Given the description of an element on the screen output the (x, y) to click on. 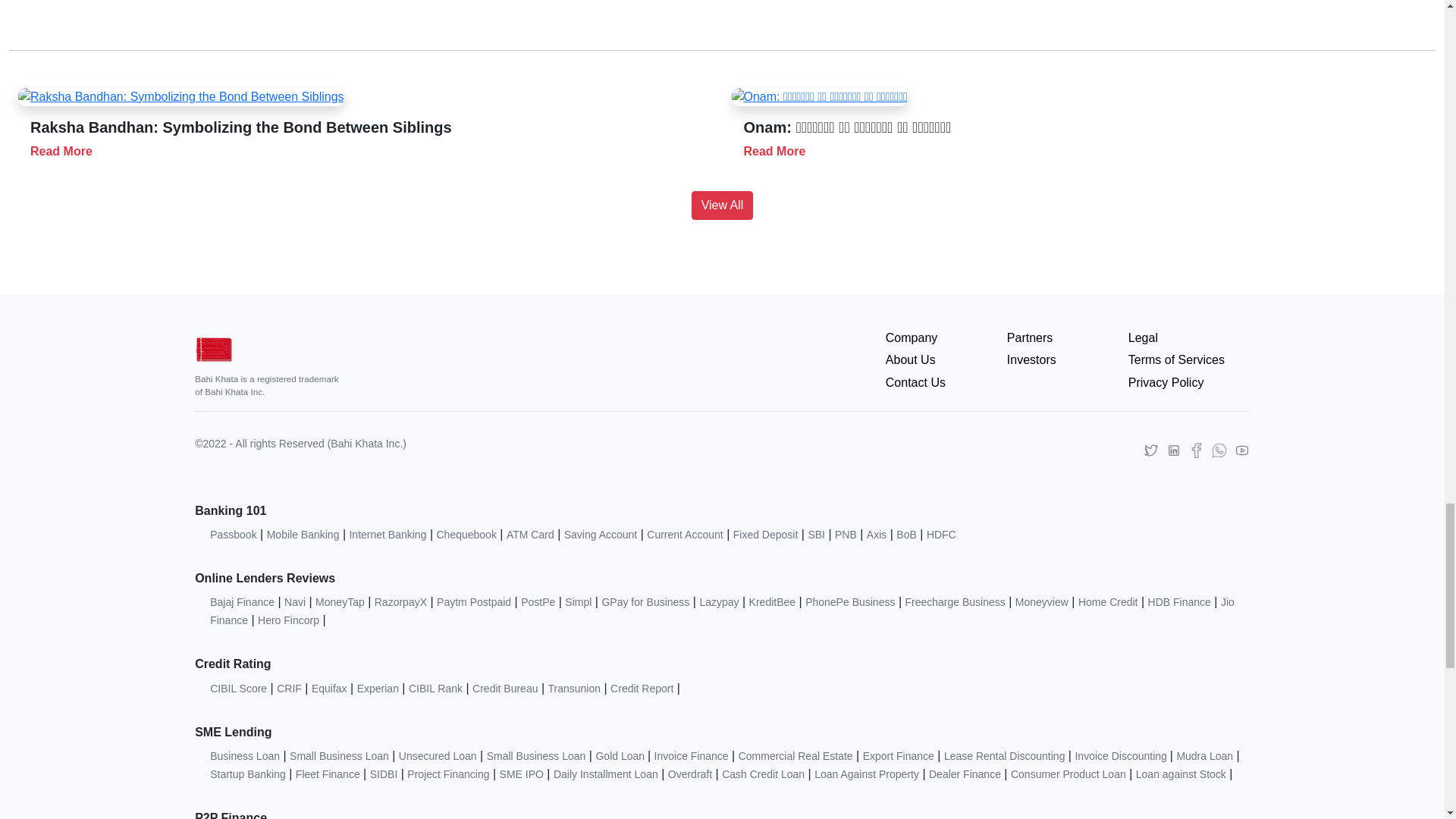
Read More    (778, 151)
Read More    (65, 151)
Terms of Services (1188, 359)
Privacy Policy (1188, 382)
Investors (1067, 359)
Contact Us (946, 382)
About Us (946, 359)
View All (722, 205)
Raksha Bandhan: Symbolizing the Bond Between Siblings (365, 137)
